Given the description of an element on the screen output the (x, y) to click on. 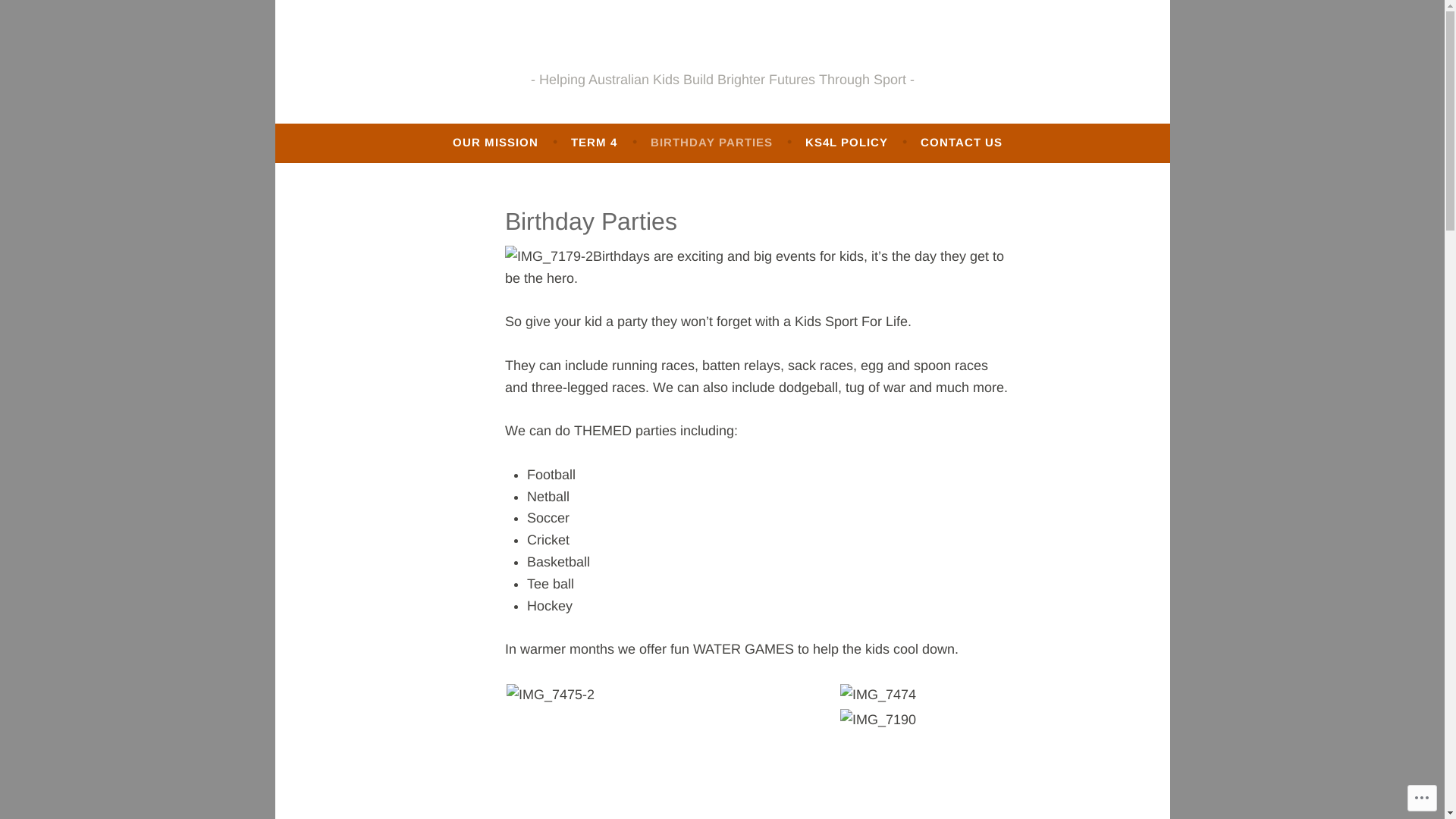
BIRTHDAY PARTIES Element type: text (711, 142)
CONTACT US Element type: text (961, 142)
IMG_7474 Element type: hover (878, 695)
KS4L POLICY Element type: text (846, 142)
IMG_7475-2 Element type: hover (550, 695)
TERM 4 Element type: text (594, 142)
OUR MISSION Element type: text (495, 142)
IMG_7190 Element type: hover (878, 720)
